Given the description of an element on the screen output the (x, y) to click on. 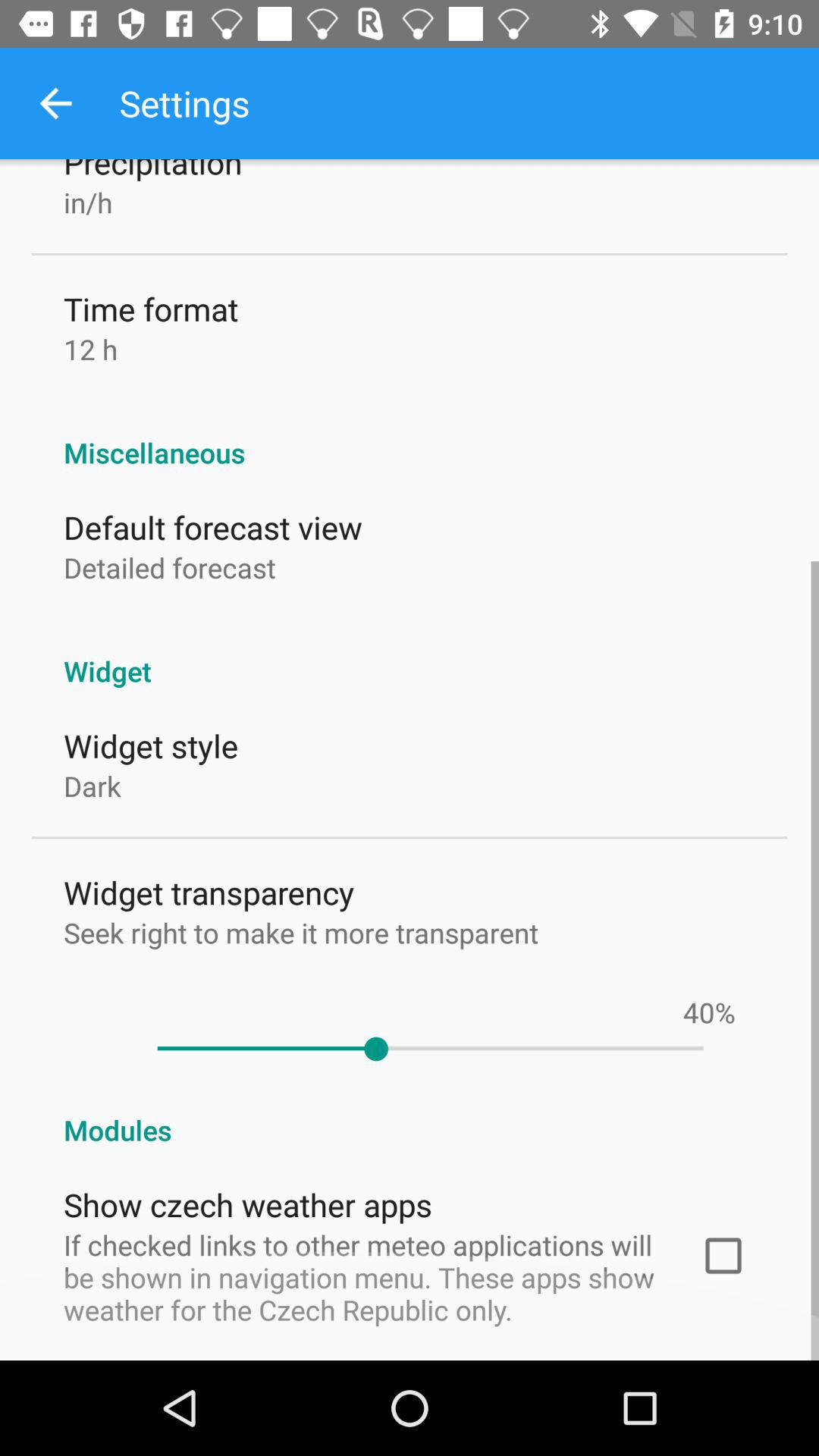
select item below the widget icon (698, 1012)
